Given the description of an element on the screen output the (x, y) to click on. 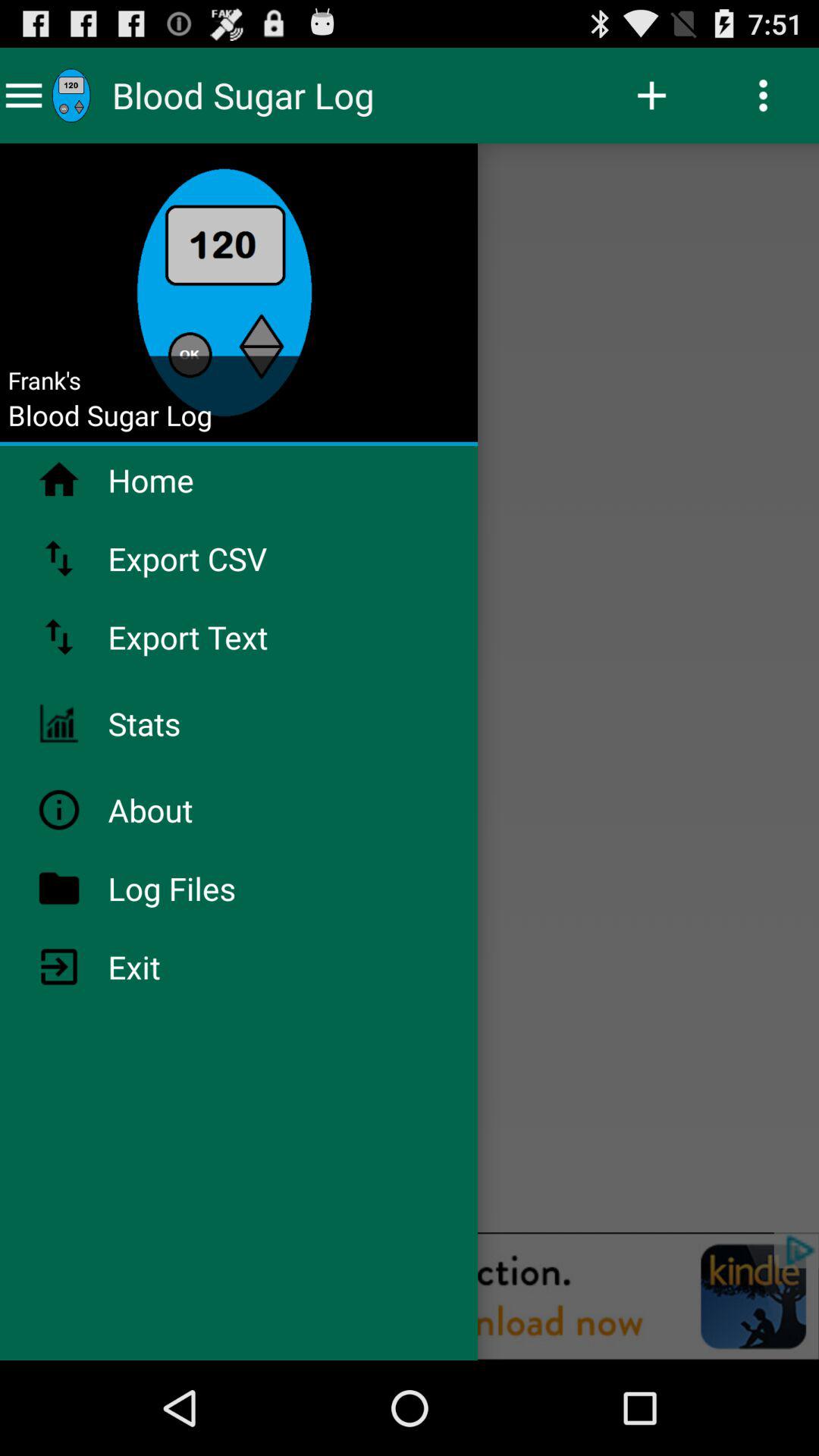
tap icon above the about app (184, 723)
